Given the description of an element on the screen output the (x, y) to click on. 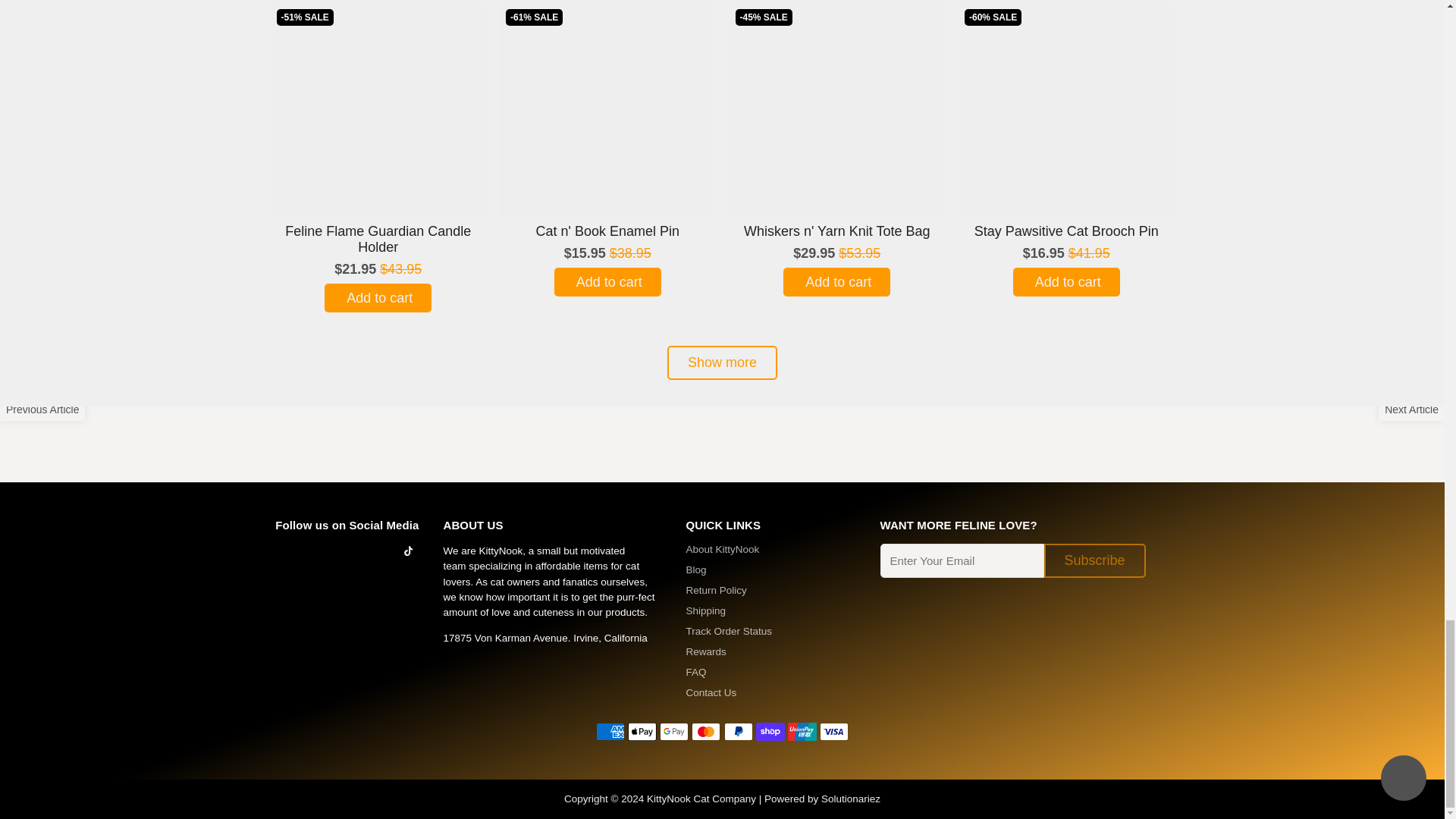
Apple Pay (641, 731)
Google Pay (673, 731)
Mastercard (705, 731)
American Express (609, 731)
Shop Pay (769, 731)
PayPal (737, 731)
Visa (833, 731)
Union Pay (801, 731)
